Given the description of an element on the screen output the (x, y) to click on. 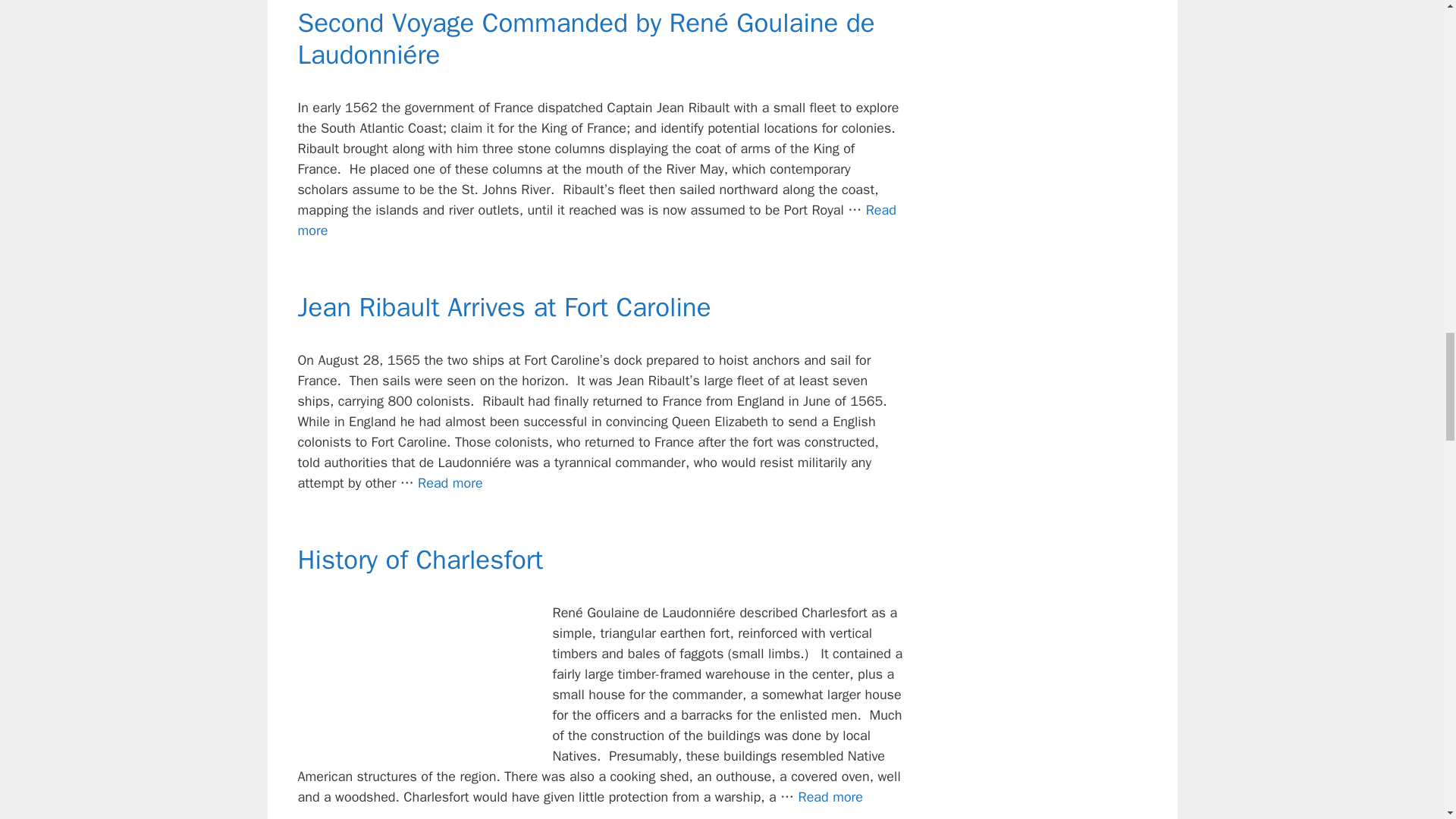
Read more (830, 796)
History of Charlesfort (420, 559)
Read more (596, 220)
Jean Ribault Arrives at Fort Caroline (503, 306)
Read more (450, 483)
